Given the description of an element on the screen output the (x, y) to click on. 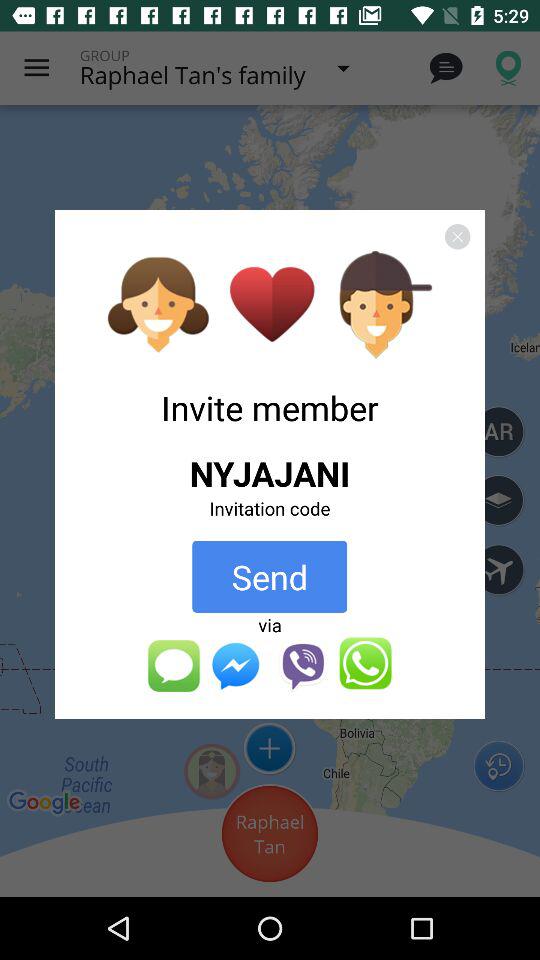
open the icon at the bottom (269, 664)
